Given the description of an element on the screen output the (x, y) to click on. 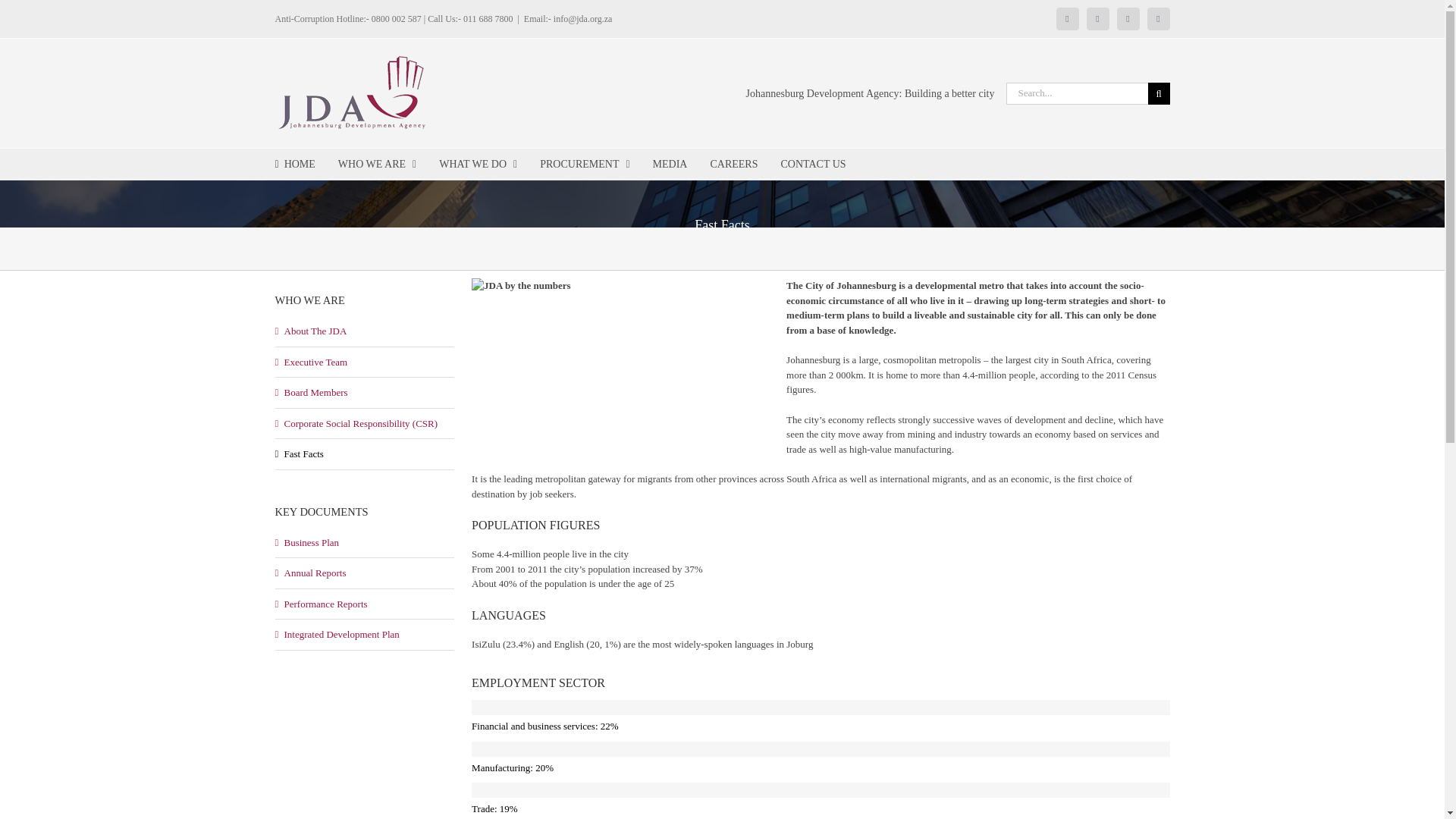
Facebook (1067, 18)
Facebook (1067, 18)
WHO WE ARE (376, 163)
Twitter (1097, 18)
HOME (294, 163)
Instagram (1128, 18)
YouTube (1158, 18)
PROCUREMENT (584, 163)
YouTube (1158, 18)
WHAT WE DO (477, 163)
Instagram (1128, 18)
Twitter (1097, 18)
